Given the description of an element on the screen output the (x, y) to click on. 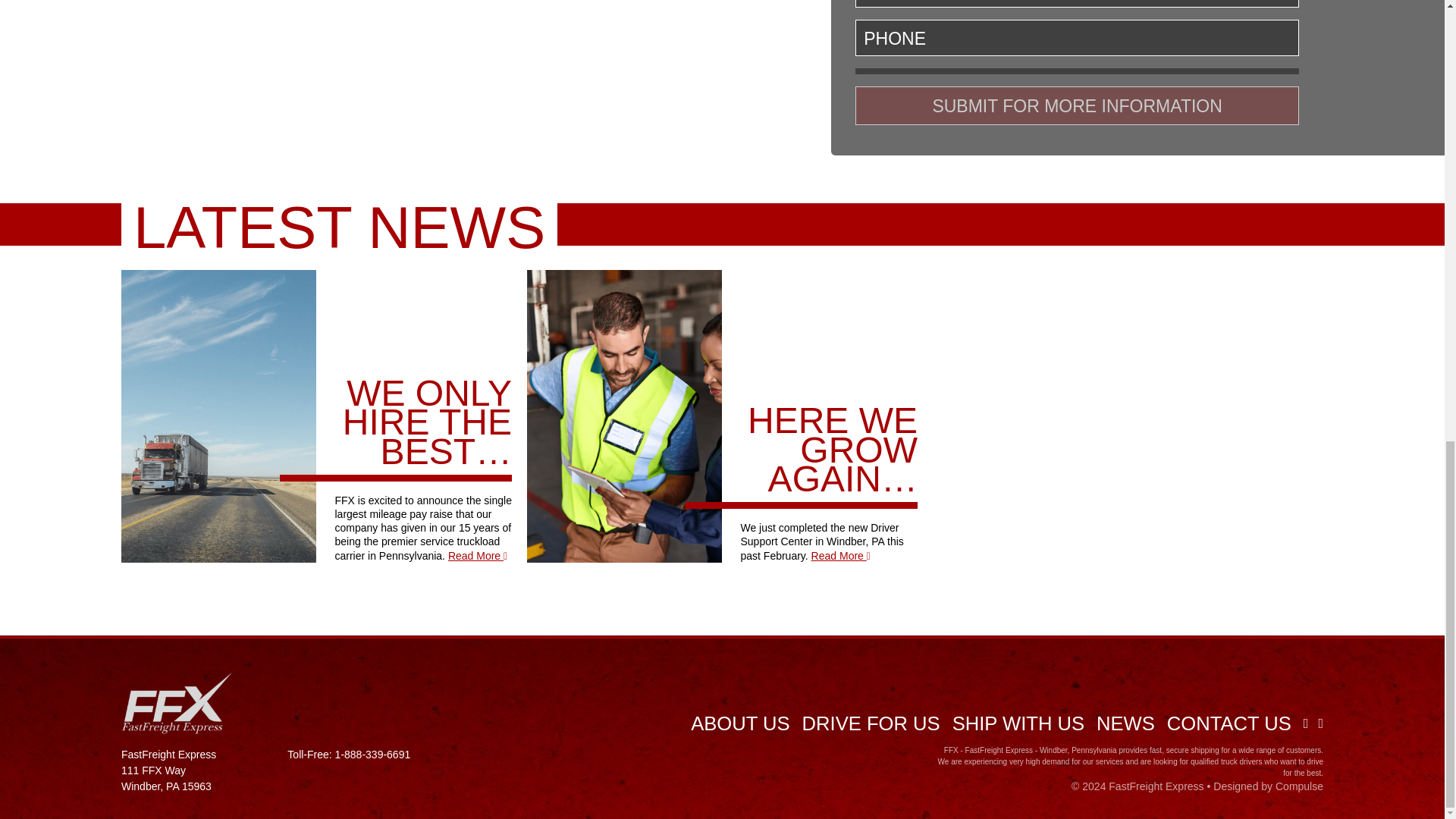
NEWS (1125, 722)
DRIVE FOR US (871, 722)
SUBMIT FOR MORE INFORMATION (1077, 105)
1-888-339-6691 (372, 754)
Read More (840, 555)
CONTACT US (1228, 722)
SHIP WITH US (1018, 722)
FastFreight Express (1156, 786)
Compulse (1299, 786)
ABOUT US (739, 722)
Read More (477, 555)
